Given the description of an element on the screen output the (x, y) to click on. 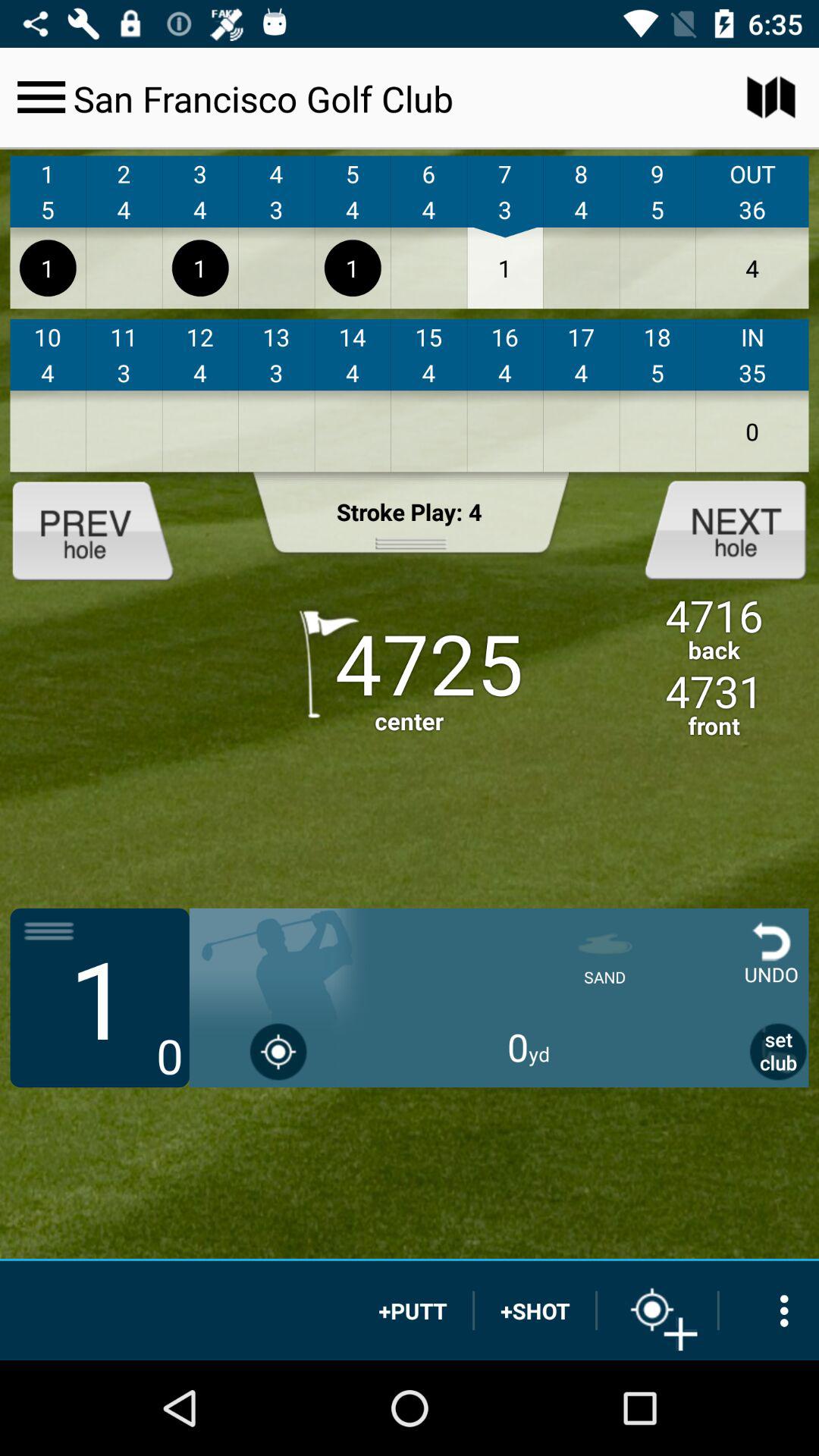
previous hole (105, 528)
